Given the description of an element on the screen output the (x, y) to click on. 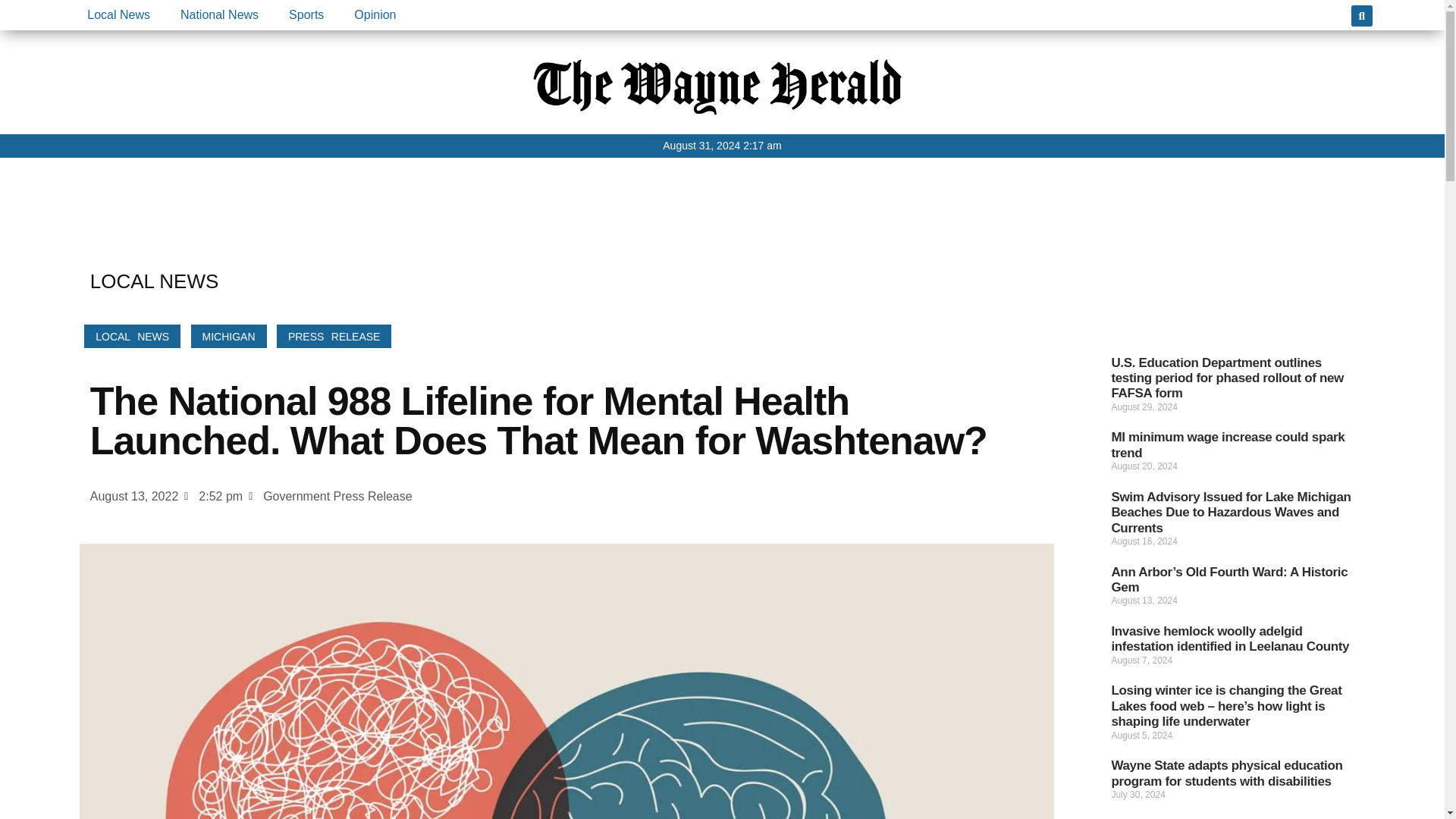
Local News (118, 14)
Opinion (374, 14)
MICHIGAN (228, 336)
PRESS RELEASE (333, 336)
MI minimum wage increase could spark trend (1226, 444)
Sports (306, 14)
